Given the description of an element on the screen output the (x, y) to click on. 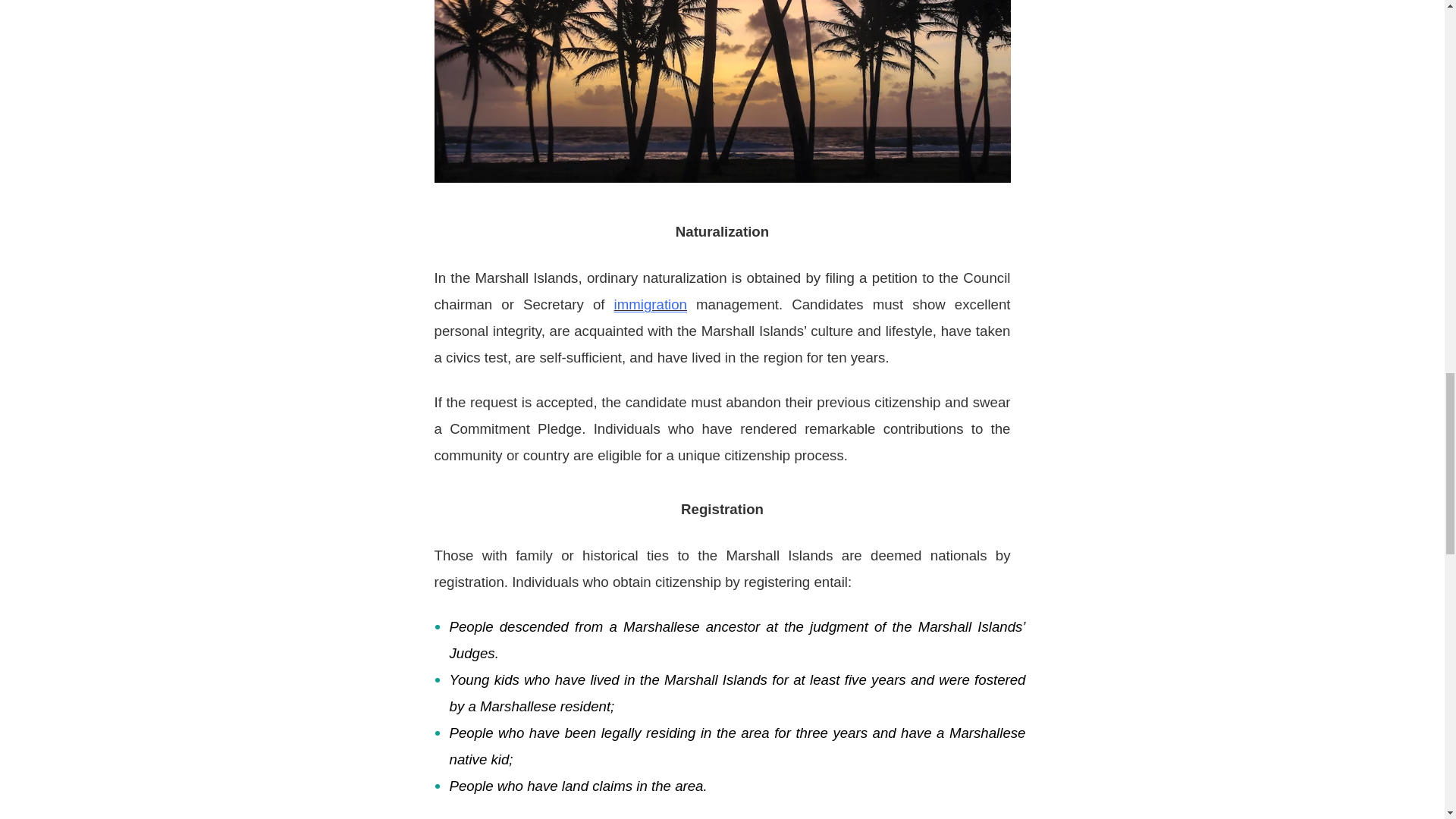
immigration (650, 304)
Marshall Islands: immigration guide (650, 304)
